Given the description of an element on the screen output the (x, y) to click on. 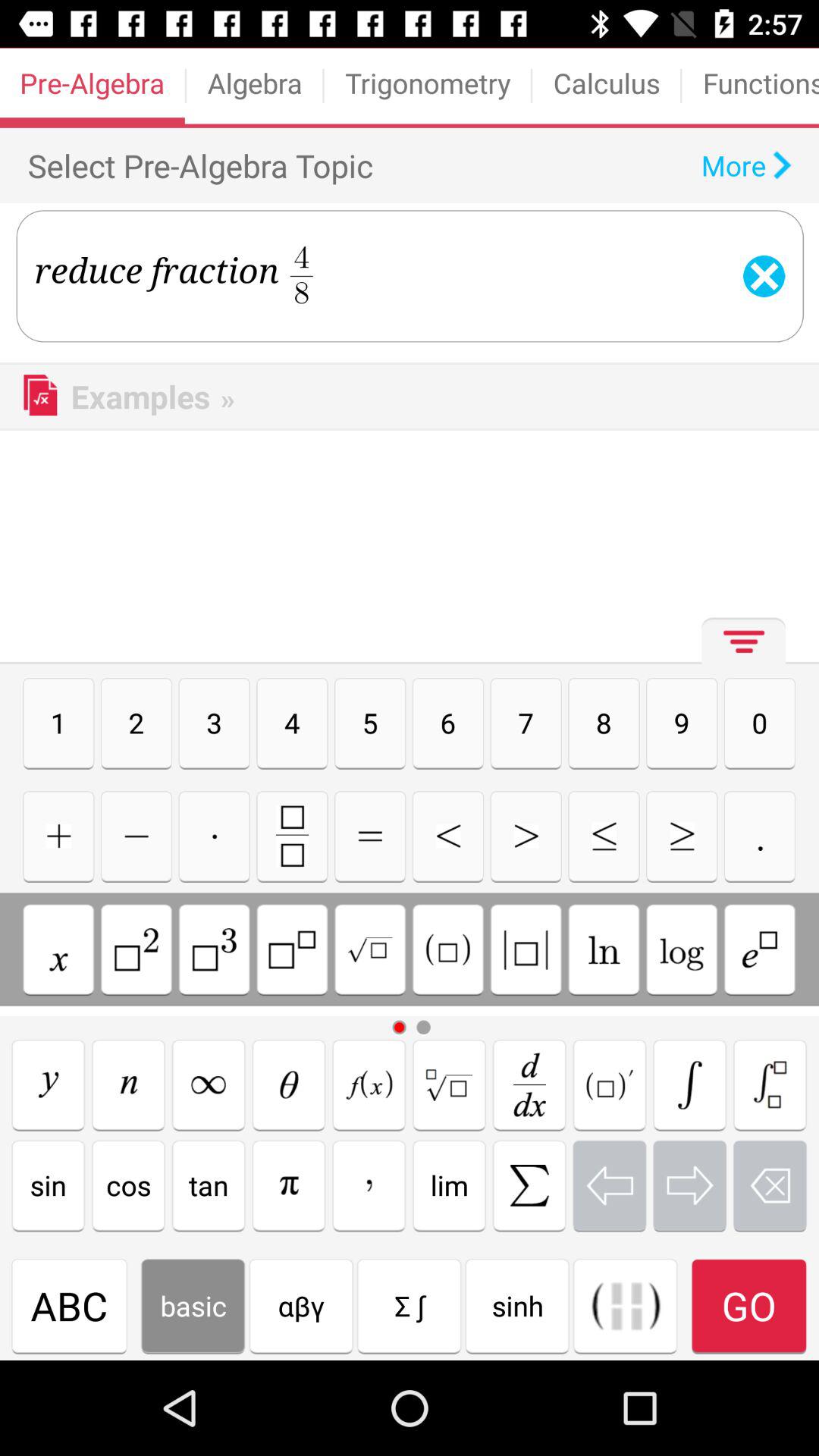
less or more than (526, 835)
